Given the description of an element on the screen output the (x, y) to click on. 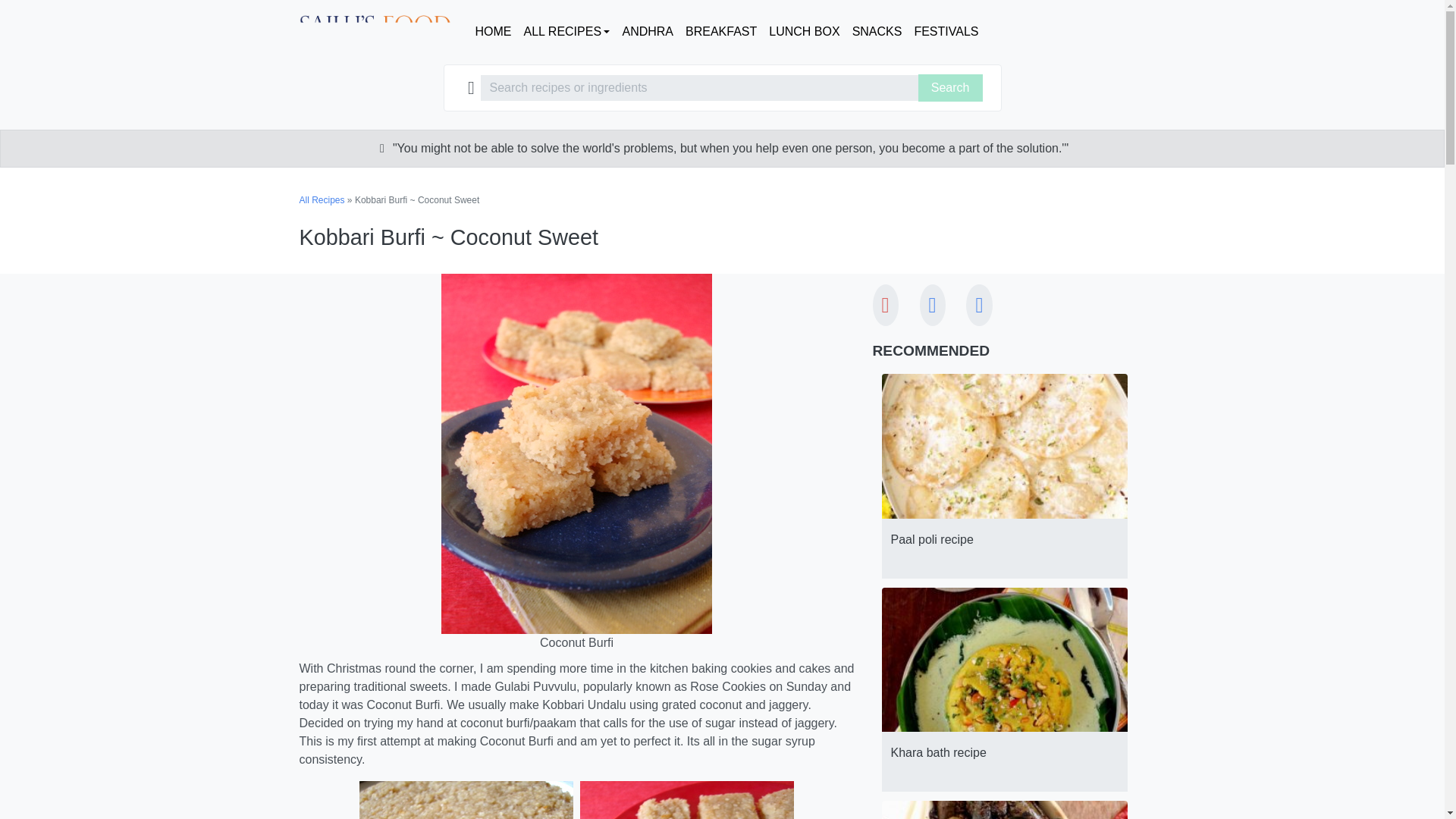
All Recipes (565, 31)
Search (950, 87)
SNACKS (876, 31)
Breakfast (720, 31)
Snacks (876, 31)
Andhra (647, 31)
Home (492, 31)
nariyal-burfi (466, 800)
kobbari-burfi (686, 800)
FESTIVALS (945, 31)
